Given the description of an element on the screen output the (x, y) to click on. 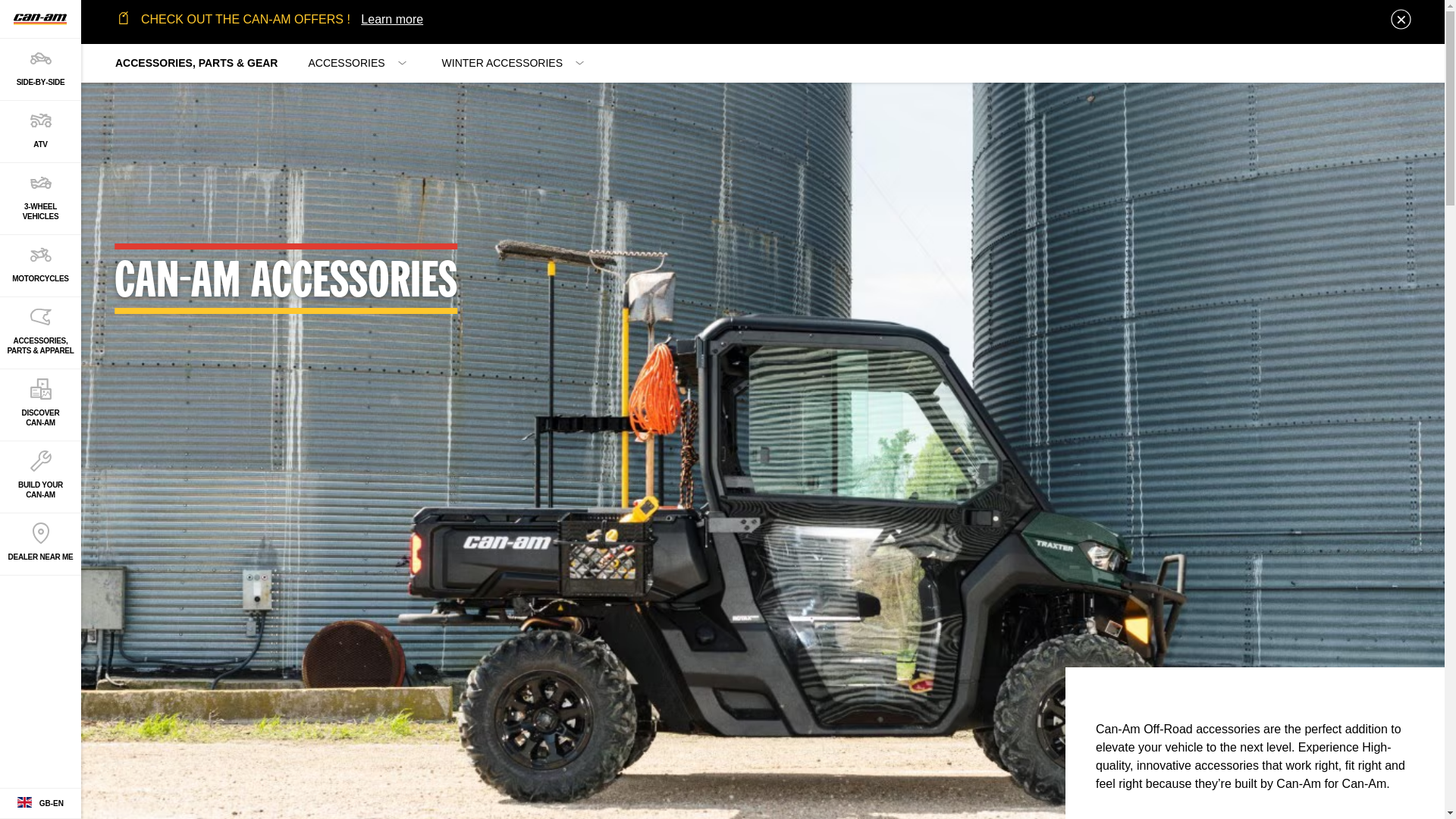
DEALER NEAR ME (40, 543)
MOTORCYCLES (40, 265)
Learn more (392, 18)
ACCESSORIES (355, 62)
WINTER ACCESSORIES (511, 62)
ATV (40, 131)
GB-EN (40, 803)
3-WHEEL VEHICLES (40, 198)
